Given the description of an element on the screen output the (x, y) to click on. 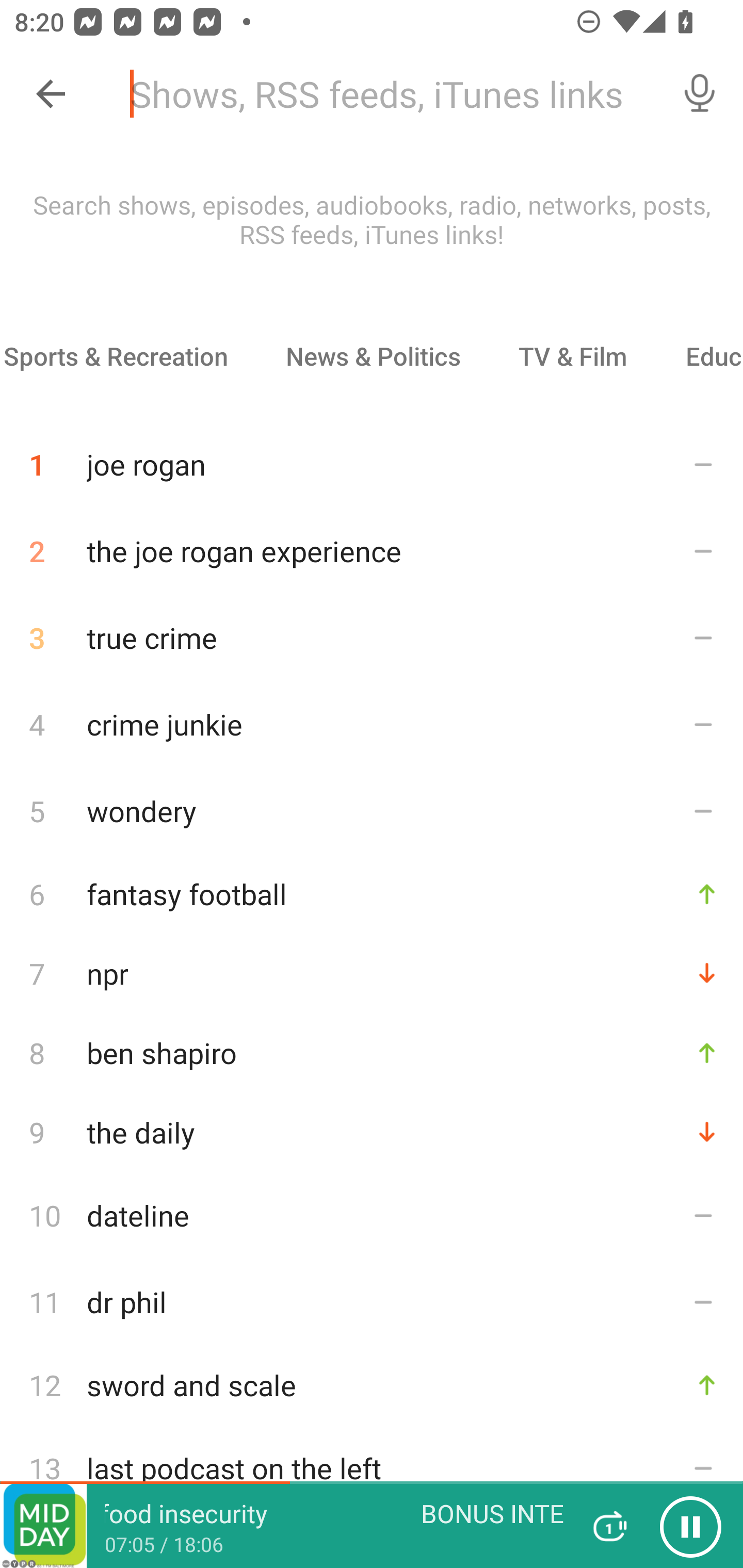
Collapse (50, 93)
Voice Search (699, 93)
Shows, RSS feeds, iTunes links (385, 94)
Sports & Recreation (128, 355)
News & Politics (372, 355)
TV & Film (572, 355)
Education (699, 355)
1 joe rogan (371, 457)
2 the joe rogan experience (371, 551)
3 true crime (371, 637)
4 crime junkie (371, 723)
5 wondery (371, 810)
6 fantasy football (371, 893)
7 npr (371, 972)
8 ben shapiro (371, 1052)
9 the daily (371, 1131)
10 dateline (371, 1215)
11 dr phil (371, 1302)
12 sword and scale (371, 1385)
